Given the description of an element on the screen output the (x, y) to click on. 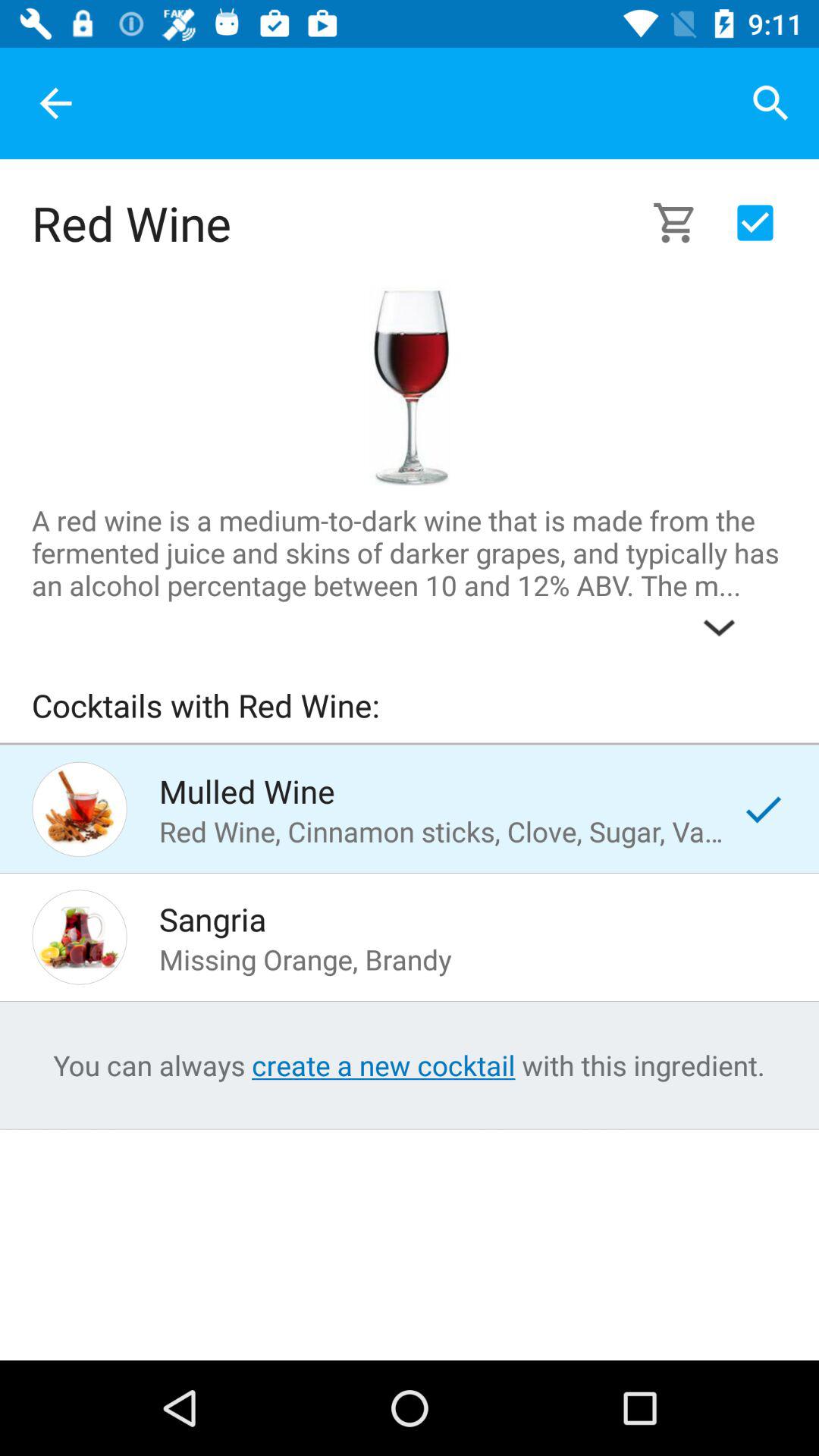
toggle red wine (408, 385)
